Given the description of an element on the screen output the (x, y) to click on. 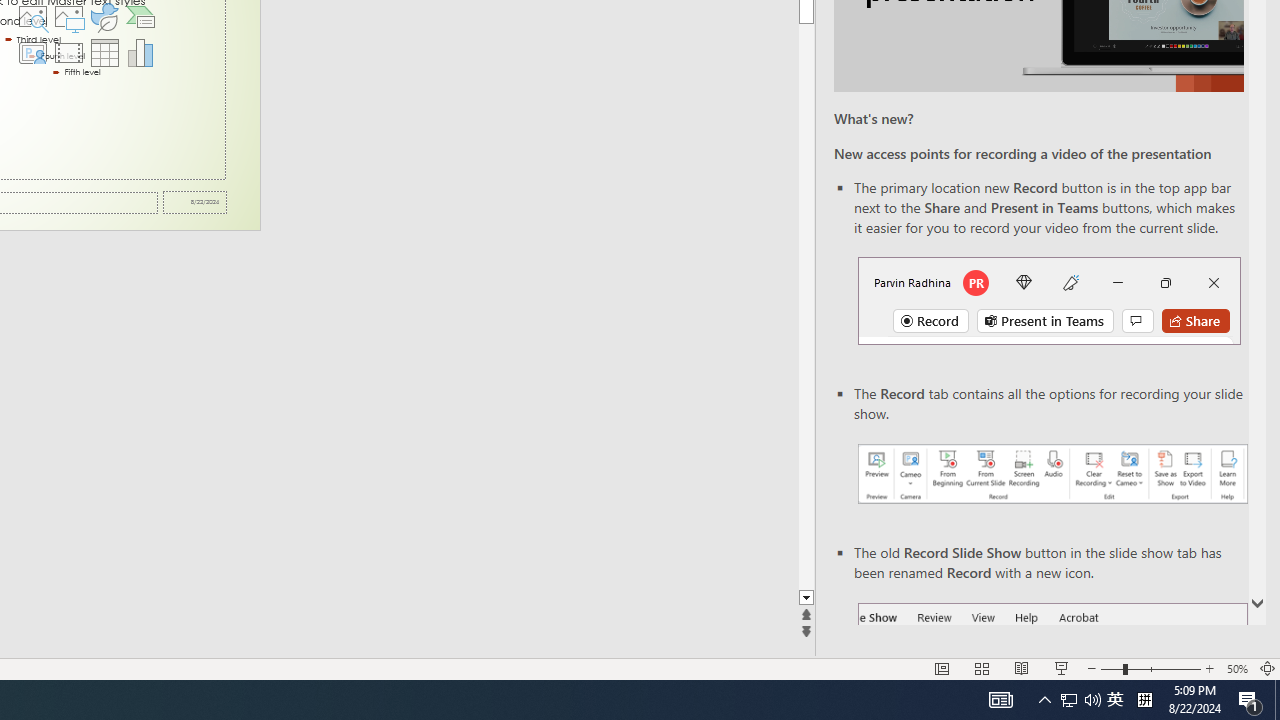
Date (194, 201)
Record your presentations screenshot one (1052, 473)
Insert a SmartArt Graphic (141, 16)
Pictures (68, 16)
Stock Images (32, 16)
Record button in top bar (1049, 300)
